Given the description of an element on the screen output the (x, y) to click on. 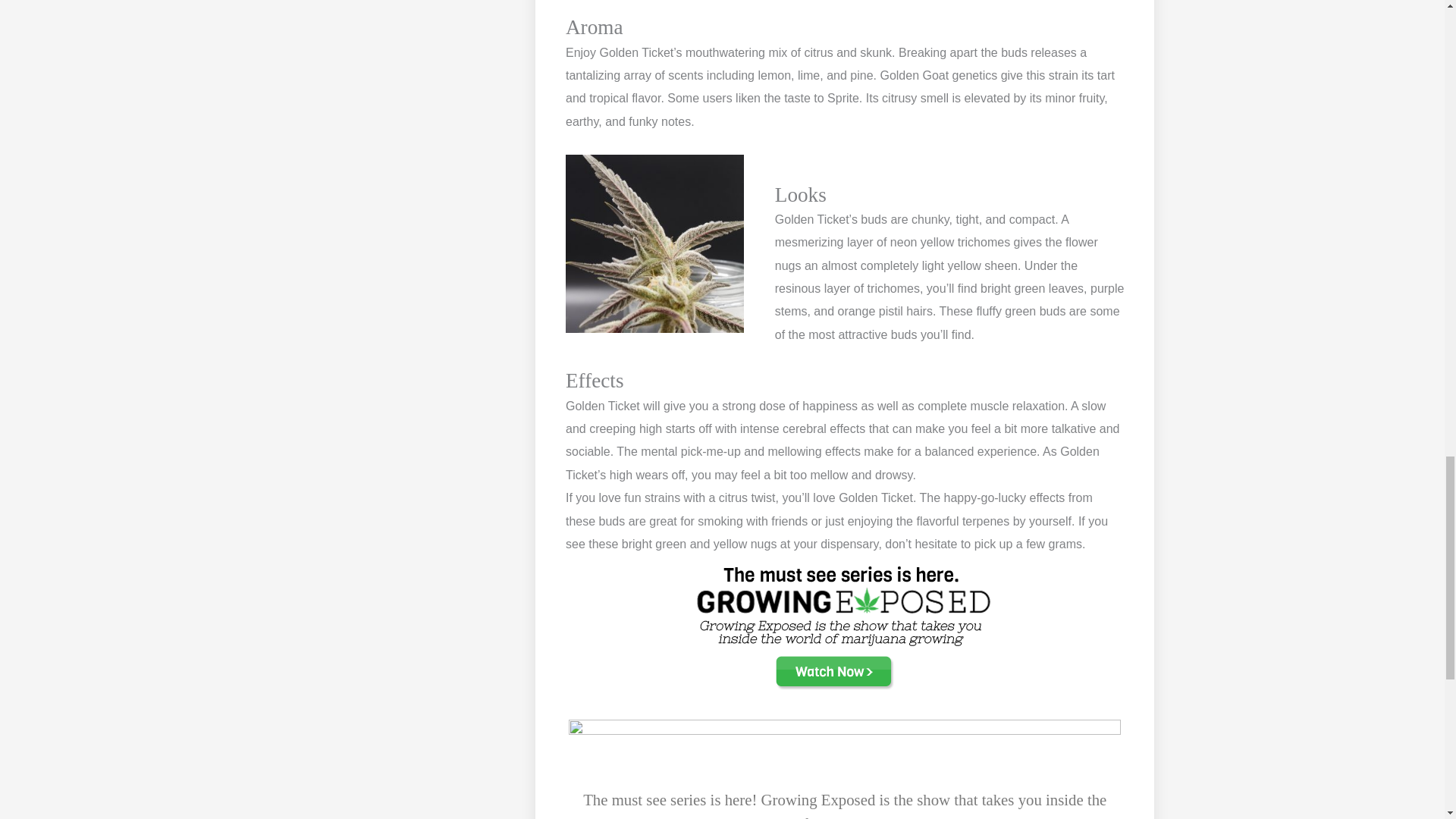
Golden Ticket 2 (655, 243)
Golden Ticket 3 (844, 627)
